Given the description of an element on the screen output the (x, y) to click on. 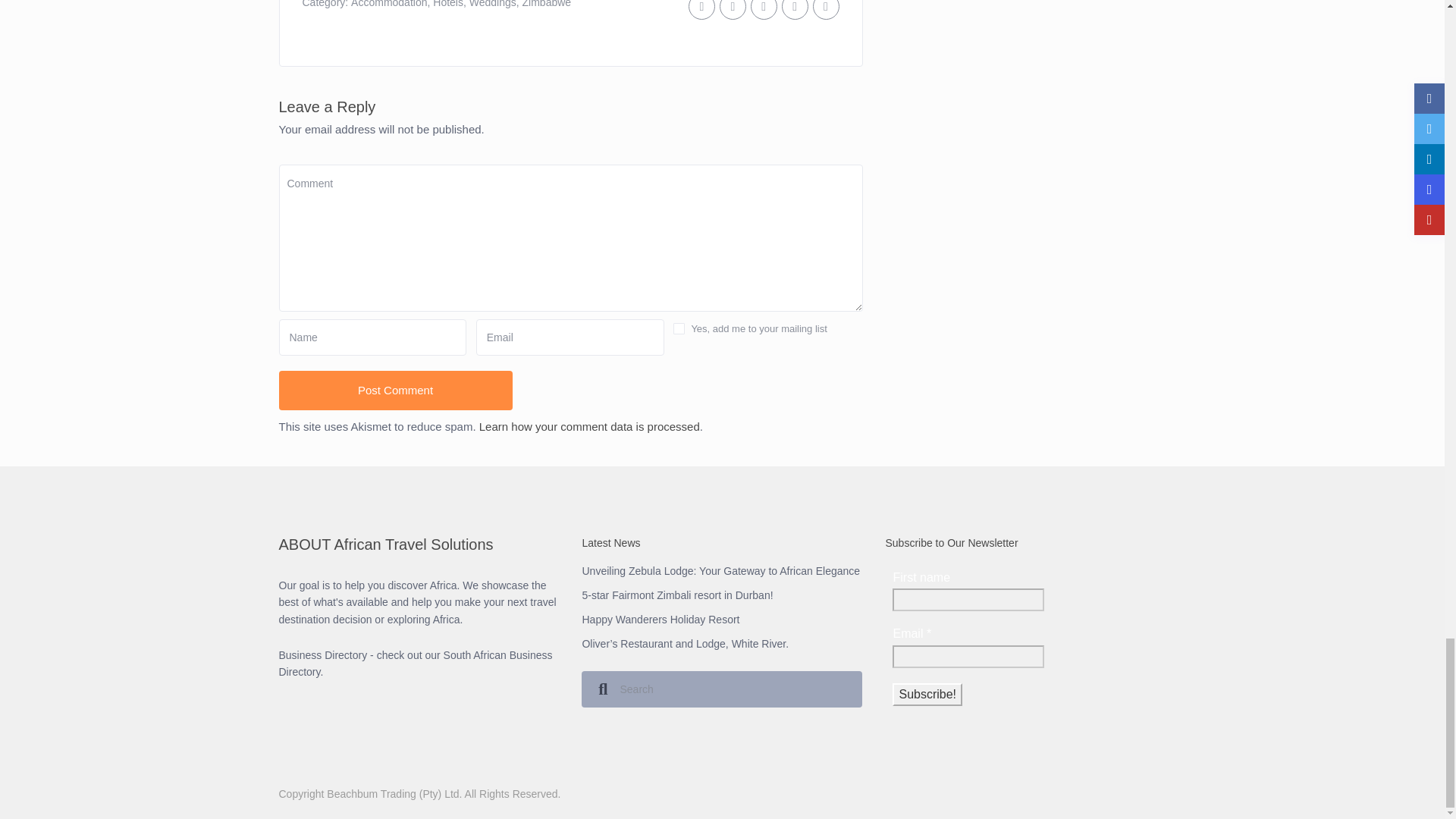
Subscribe! (927, 694)
Hotels (447, 4)
Post Comment (395, 390)
First name (967, 599)
1 (678, 328)
Weddings (492, 4)
Zimbabwe (547, 4)
Email (967, 656)
Accommodation (388, 4)
